Given the description of an element on the screen output the (x, y) to click on. 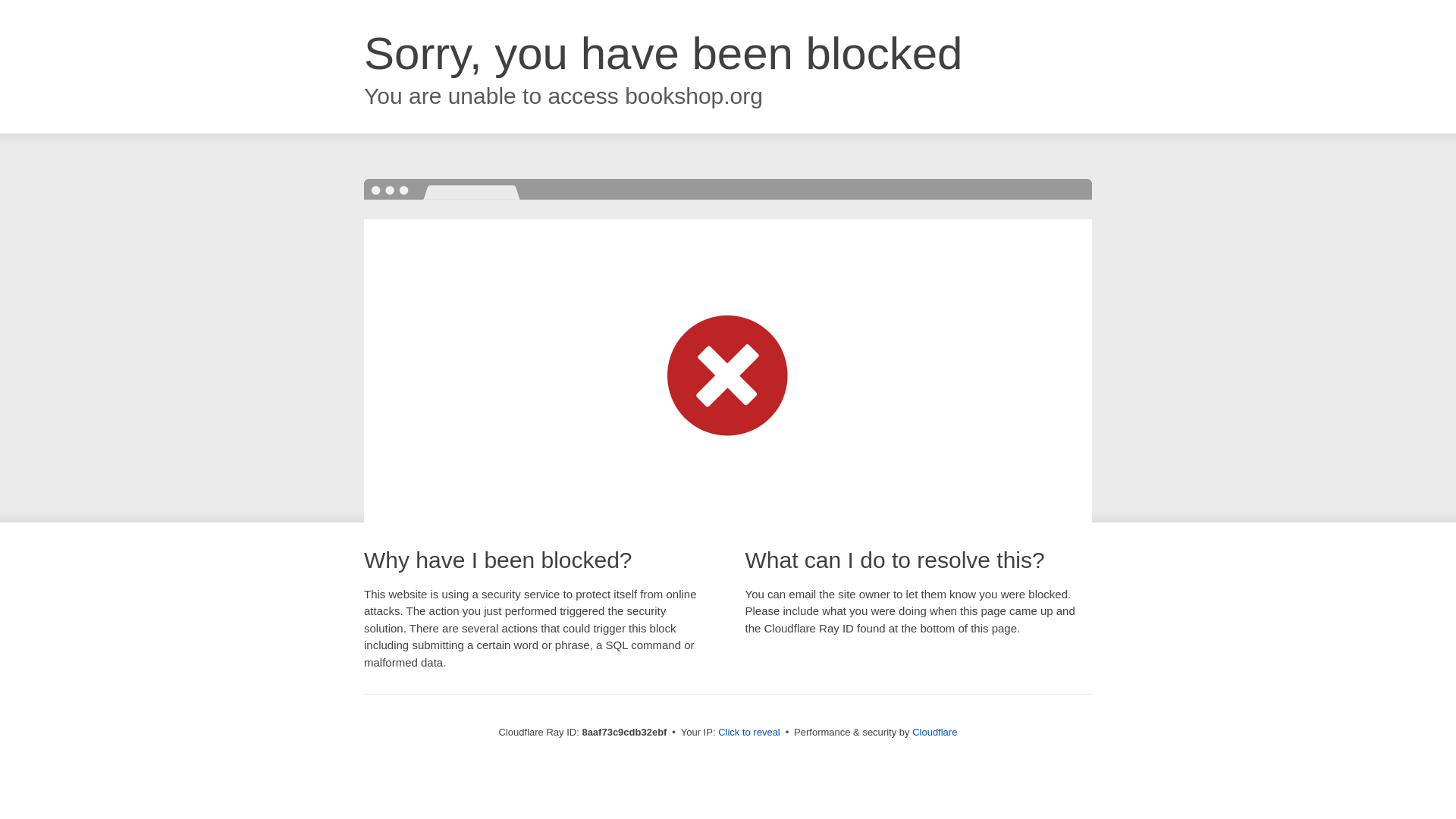
Cloudflare (934, 731)
Click to reveal (748, 732)
